Given the description of an element on the screen output the (x, y) to click on. 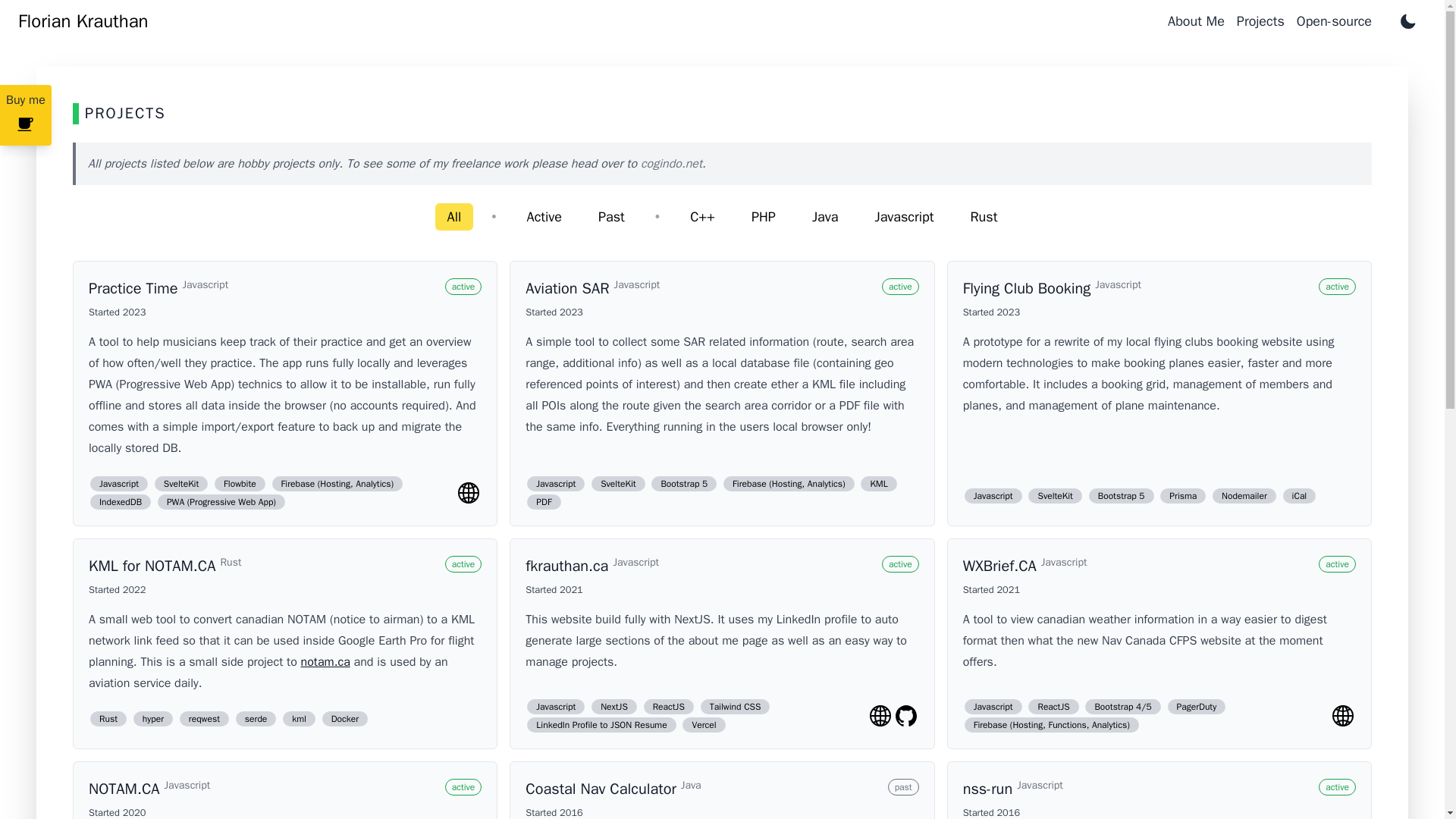
Projects (1266, 21)
All (454, 216)
Past (611, 216)
Active (544, 216)
notam.ca (325, 661)
PHP (763, 216)
Rust (983, 216)
Florian Krauthan (82, 16)
fkrauthan.ca Project Website (880, 715)
About Me (1201, 21)
